Given the description of an element on the screen output the (x, y) to click on. 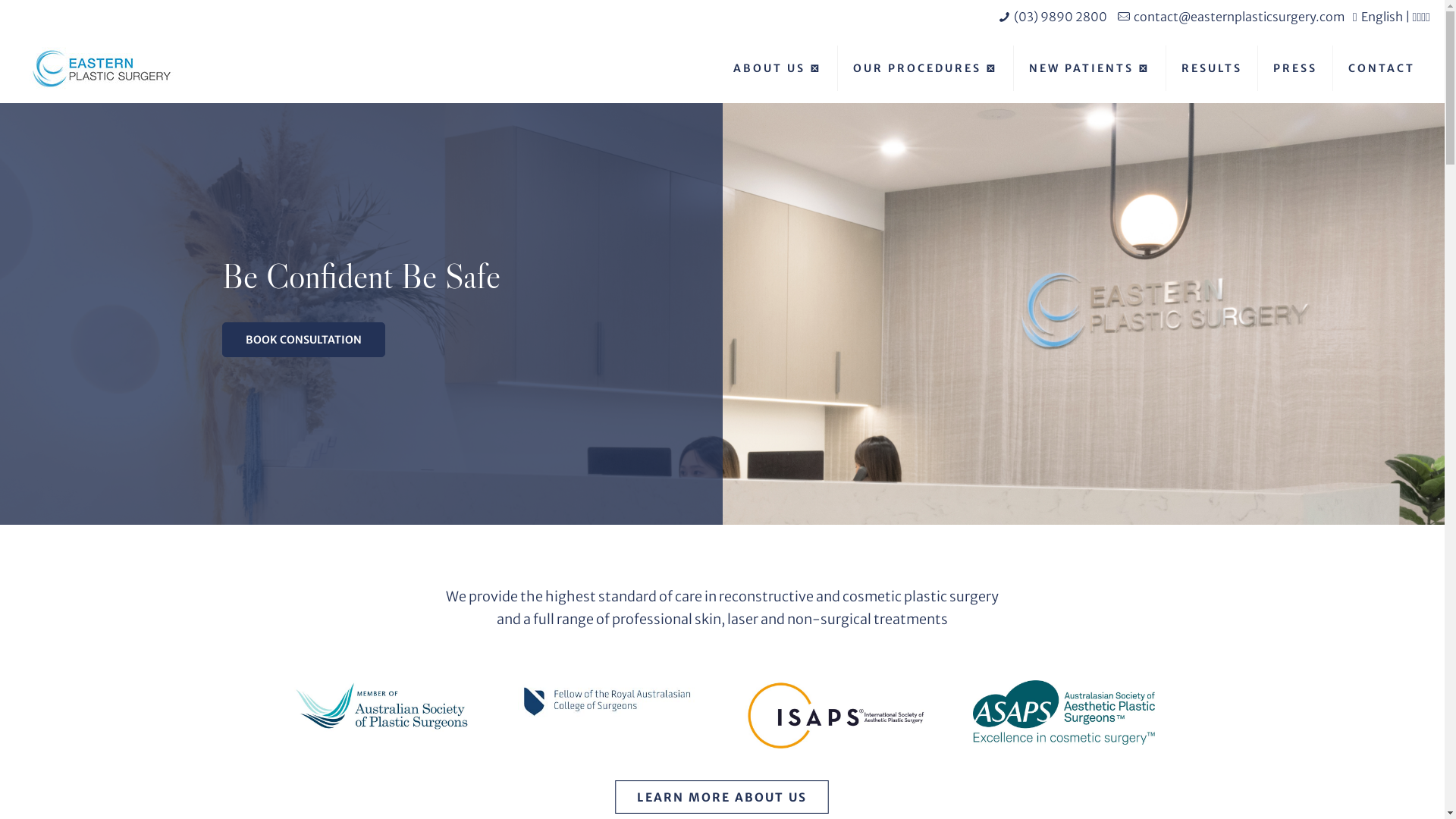
contact@easternplasticsurgery.com Element type: text (1239, 16)
Eastern Plastic Surgery (EPS) Element type: hover (101, 68)
LEARN MORE ABOUT US Element type: text (712, 795)
PRESS Element type: text (1295, 68)
CONTACT Element type: text (1381, 68)
(03) 9890 2800 Element type: text (1060, 16)
BOOK CONSULTATION Element type: text (303, 339)
English Element type: text (1381, 16)
RESULTS Element type: text (1212, 68)
